Given the description of an element on the screen output the (x, y) to click on. 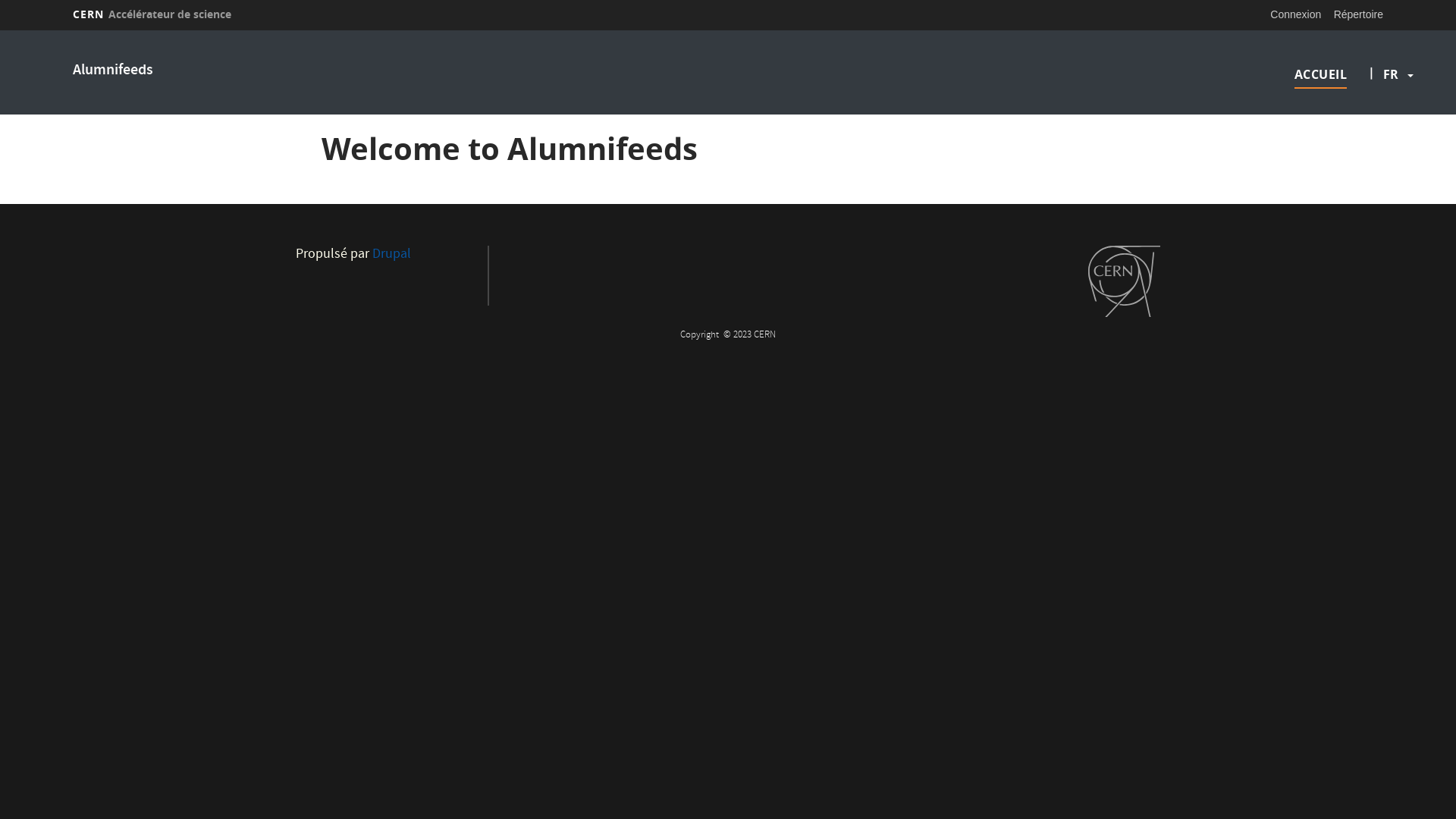
ACCUEIL Element type: text (1319, 74)
Drupal Element type: text (391, 254)
Aller au contenu principal Element type: text (0, 30)
Copyright Element type: text (700, 335)
Alumnifeeds Element type: text (112, 70)
CERN Element type: hover (1124, 280)
Connexion Element type: text (1295, 14)
|
FR Element type: text (1390, 73)
